Given the description of an element on the screen output the (x, y) to click on. 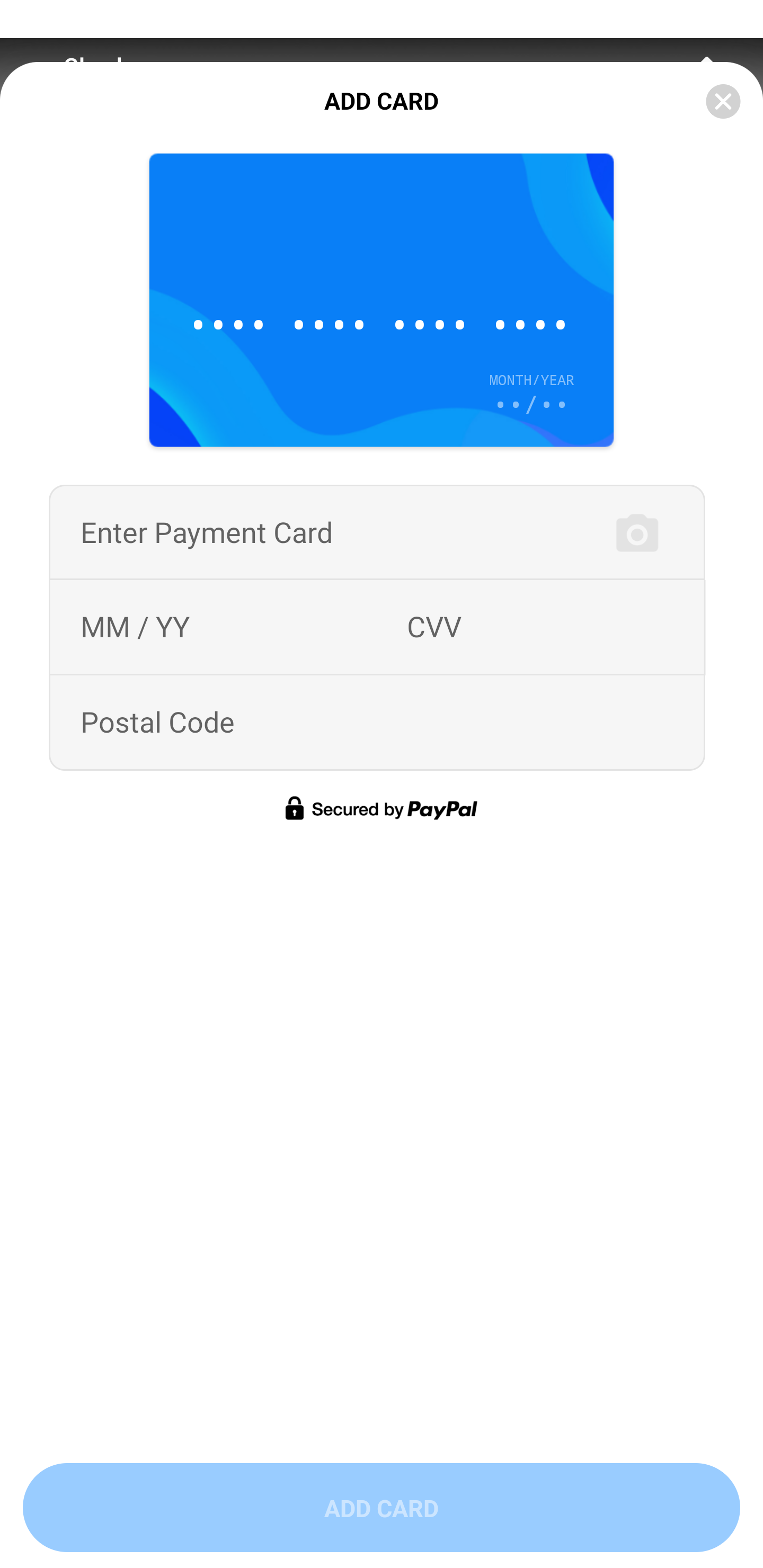
Enter Payment Card (206, 532)
MM / YY (135, 627)
CVV (433, 627)
Postal Code (157, 722)
ADD CARD (381, 1507)
